Given the description of an element on the screen output the (x, y) to click on. 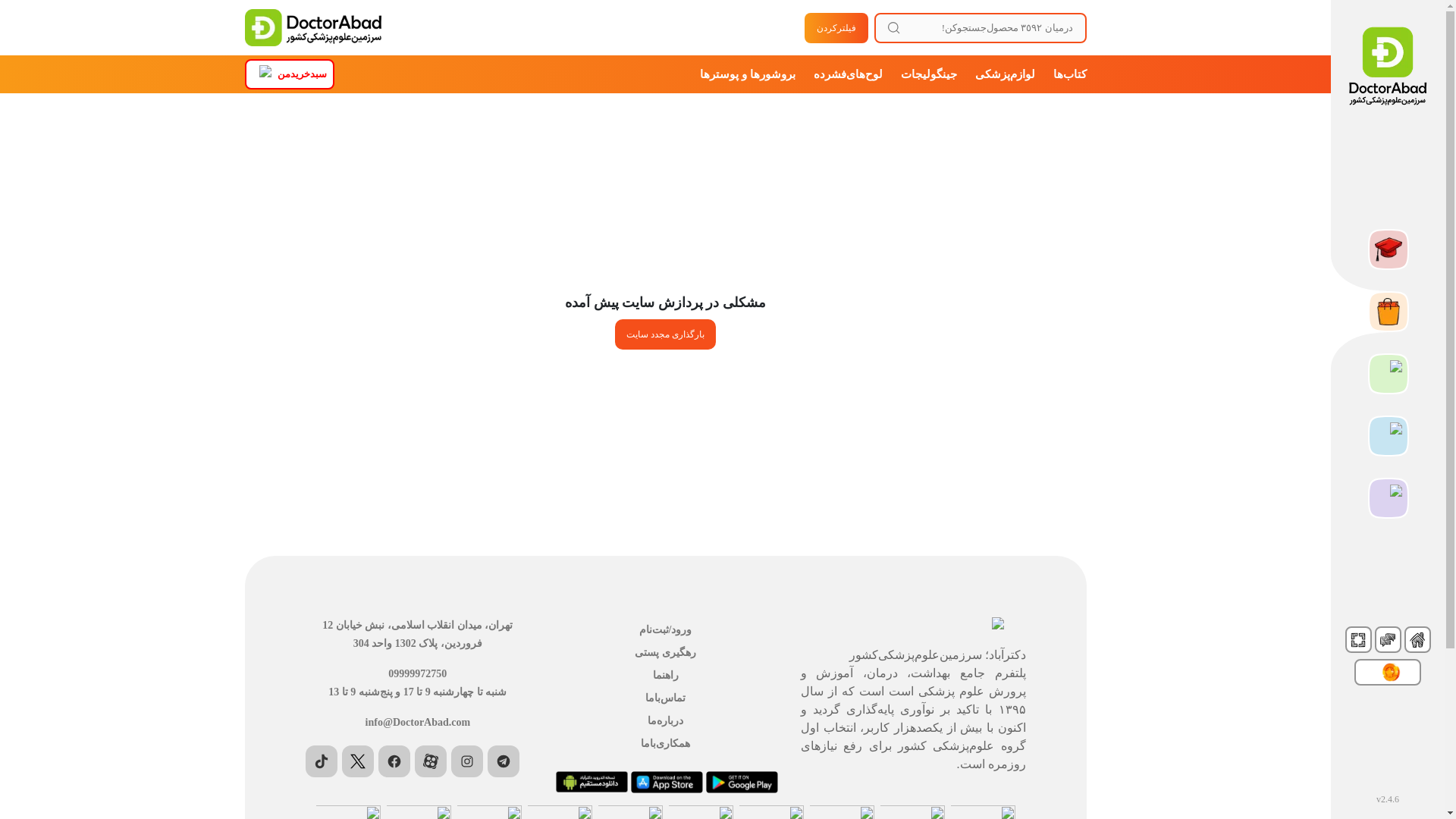
Facebook (394, 761)
Twitter (358, 761)
TikTok (321, 761)
Telegram (503, 761)
Instagram (467, 761)
